Given the description of an element on the screen output the (x, y) to click on. 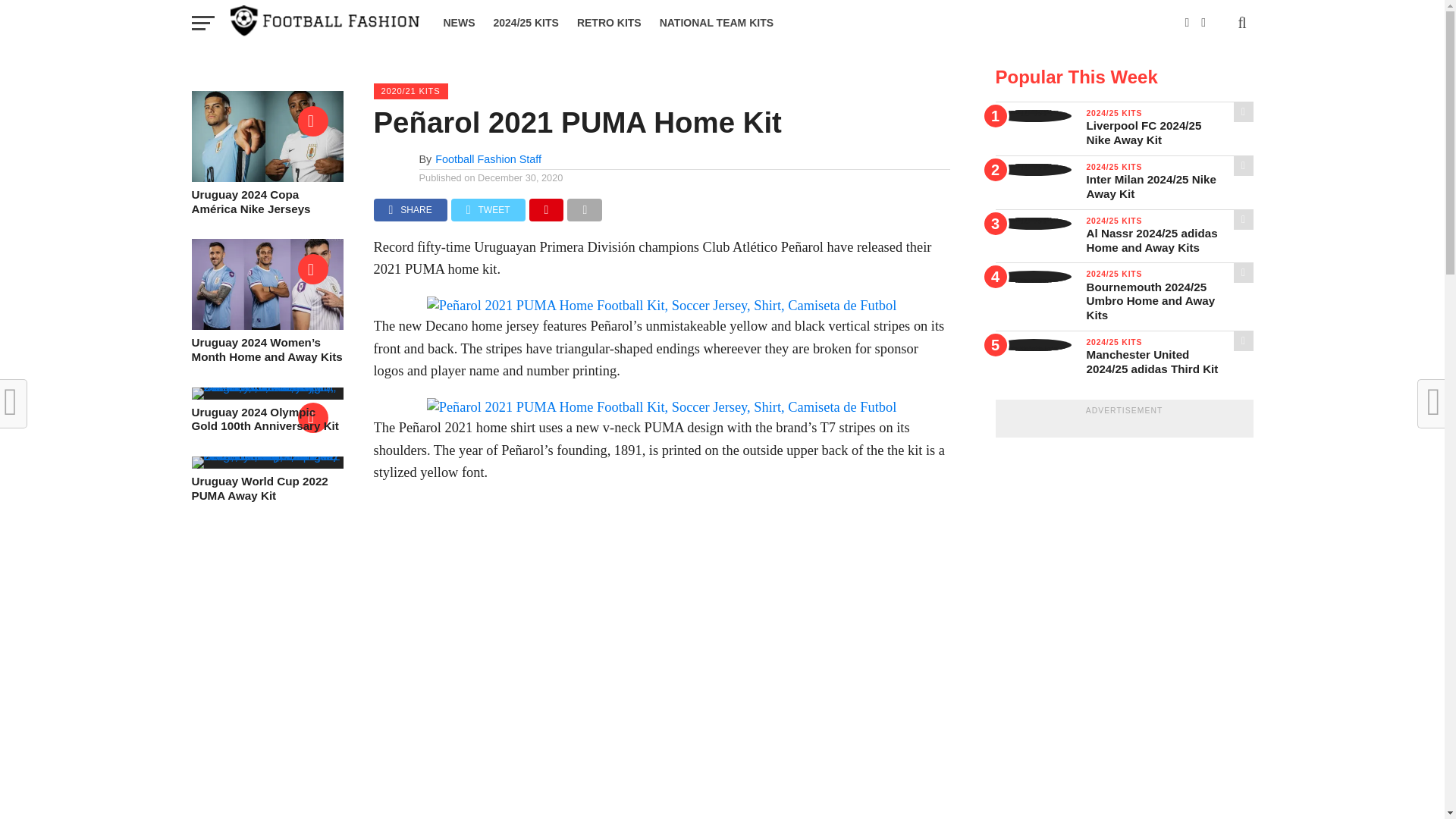
Posts by Football Fashion Staff (488, 159)
Uruguay 2024 Olympic Gold 100th Anniversary Kit (266, 386)
Uruguay World Cup 2022 PUMA Away Kit (266, 455)
